Given the description of an element on the screen output the (x, y) to click on. 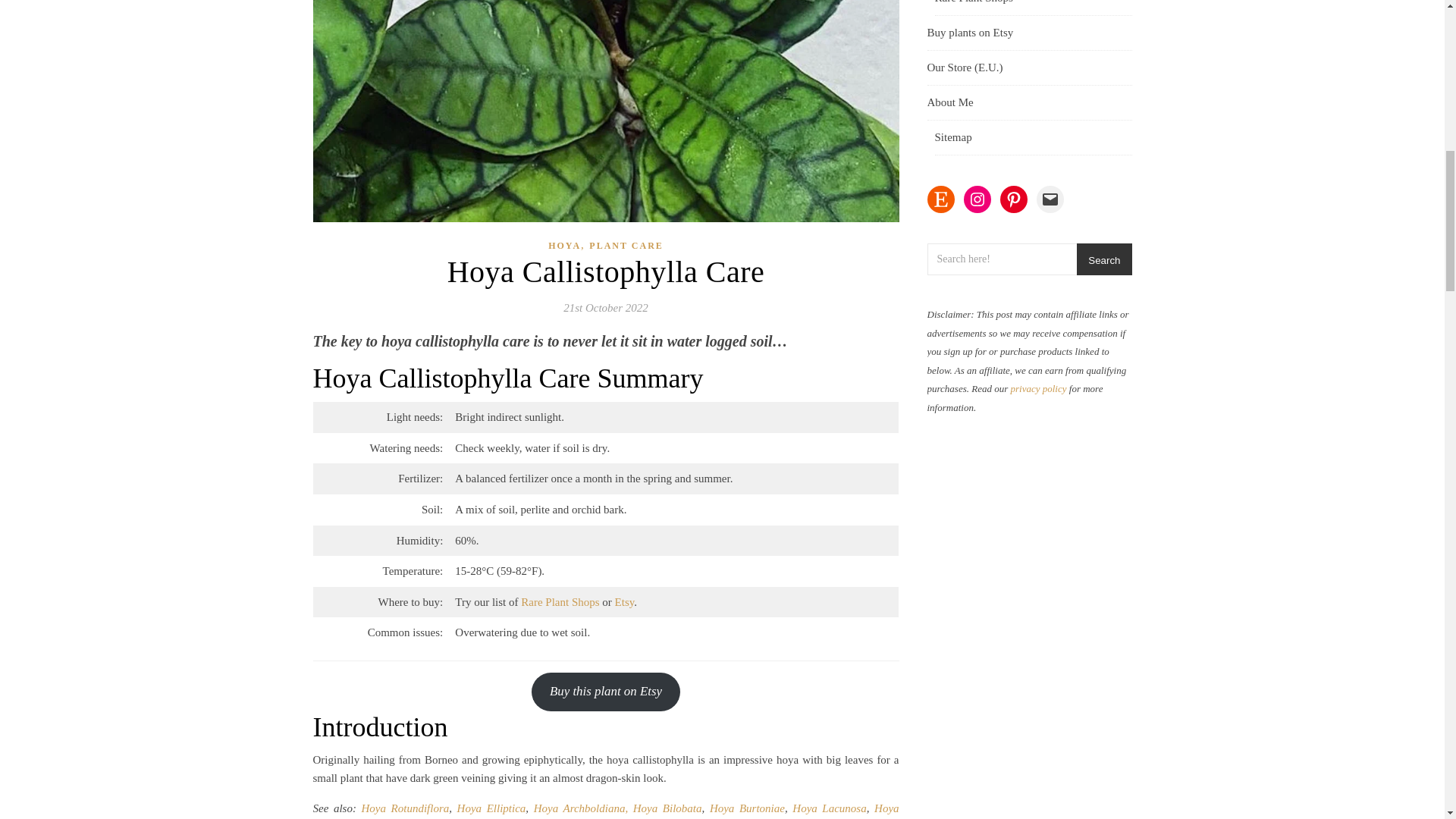
Hoya Archboldiana, (581, 808)
Hoya Rotundiflora (404, 808)
Hoya Burtoniae (747, 808)
Etsy (624, 602)
HOYA (564, 245)
Buy this plant on Etsy (606, 691)
PLANT CARE (625, 245)
Hoya Elliptica (491, 808)
Rare Plant Shops (559, 602)
Hoya Bilobata (667, 808)
